Given the description of an element on the screen output the (x, y) to click on. 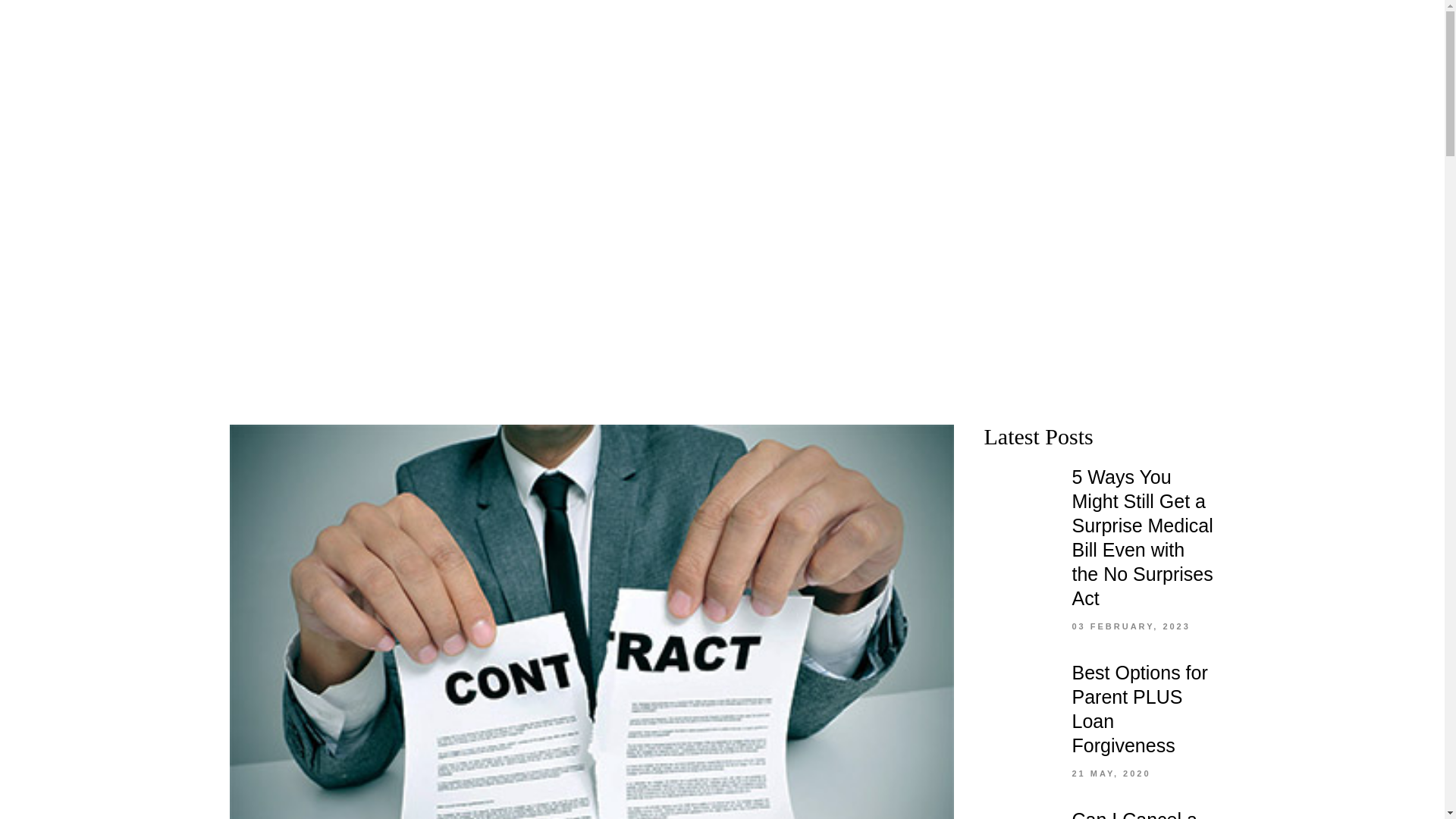
Best Options for Parent PLUS Loan Forgiveness (1139, 708)
Services (543, 38)
800-632-7967 (1336, 27)
Contact (805, 38)
Consultation (890, 38)
